Given the description of an element on the screen output the (x, y) to click on. 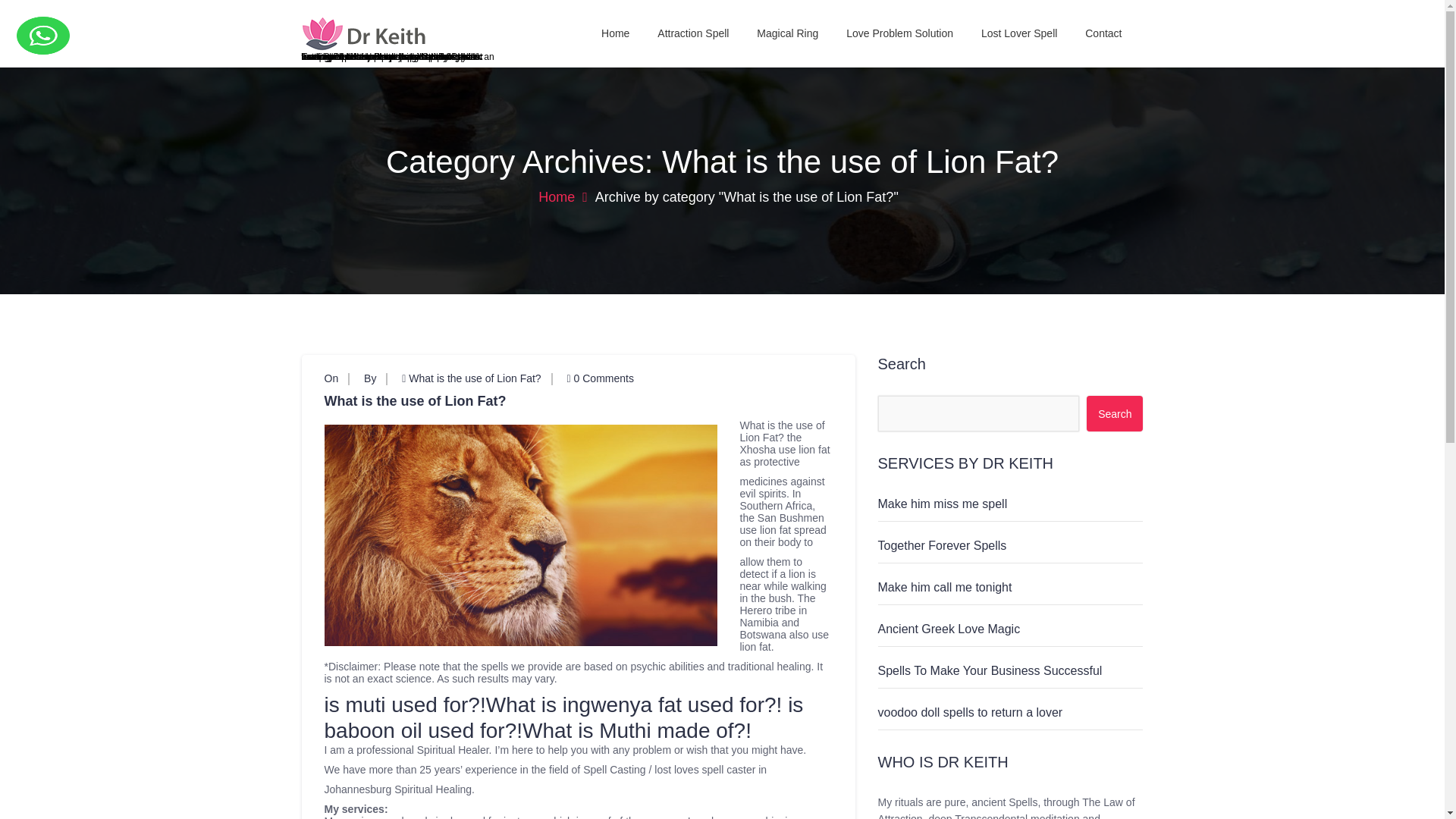
On (331, 378)
By (369, 378)
Home (615, 33)
Attraction Spell (692, 33)
Ancient Greek Love Magic (948, 628)
Contact (1103, 33)
Love Problem Solution (899, 33)
Make him miss me spell (942, 503)
Search (1114, 413)
Attraction Spell (692, 33)
